Given the description of an element on the screen output the (x, y) to click on. 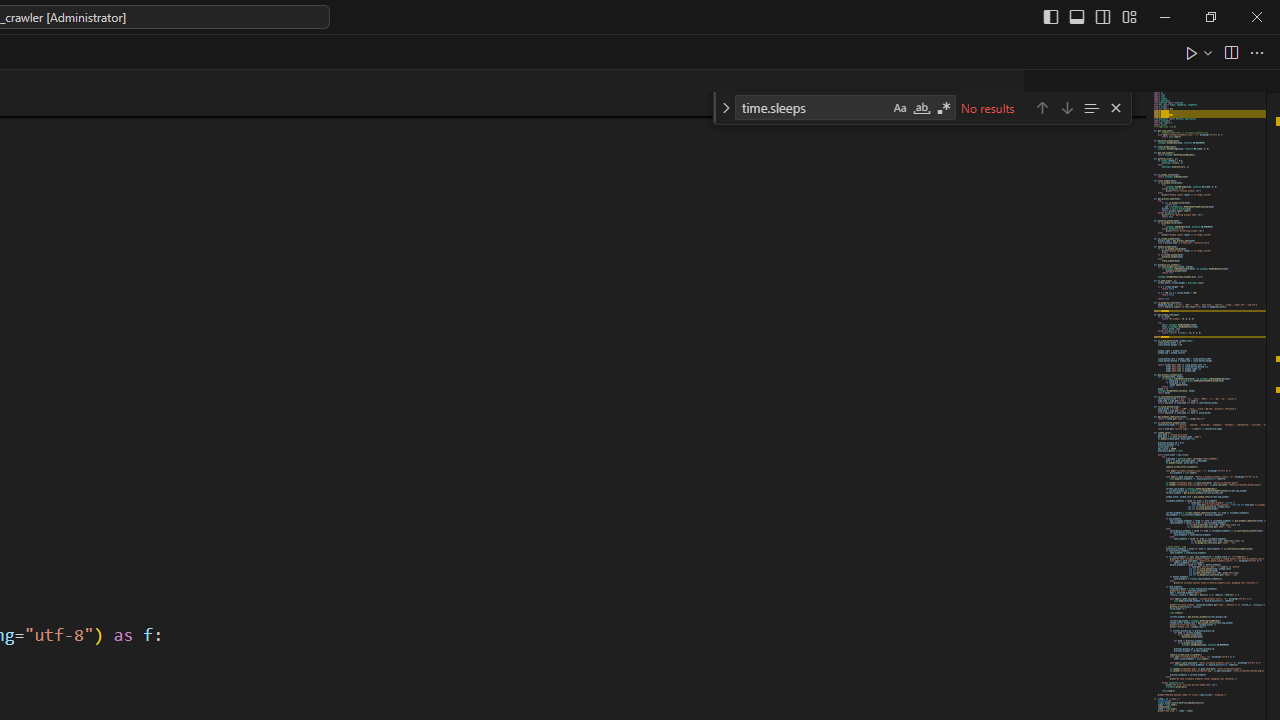
Title actions (1089, 16)
Toggle Primary Side Bar (Ctrl+B) (1050, 16)
Toggle Panel (Ctrl+J) (1077, 16)
Split Editor Right (Ctrl+\) [Alt] Split Editor Down (1230, 52)
Editor actions (1226, 52)
Run or Debug... (1208, 52)
Find (812, 106)
Run Python File (1192, 52)
Match Whole Word (Alt+W) (921, 107)
Toggle Replace (725, 107)
Close (Escape) (1115, 107)
More Actions... (1256, 52)
